Given the description of an element on the screen output the (x, y) to click on. 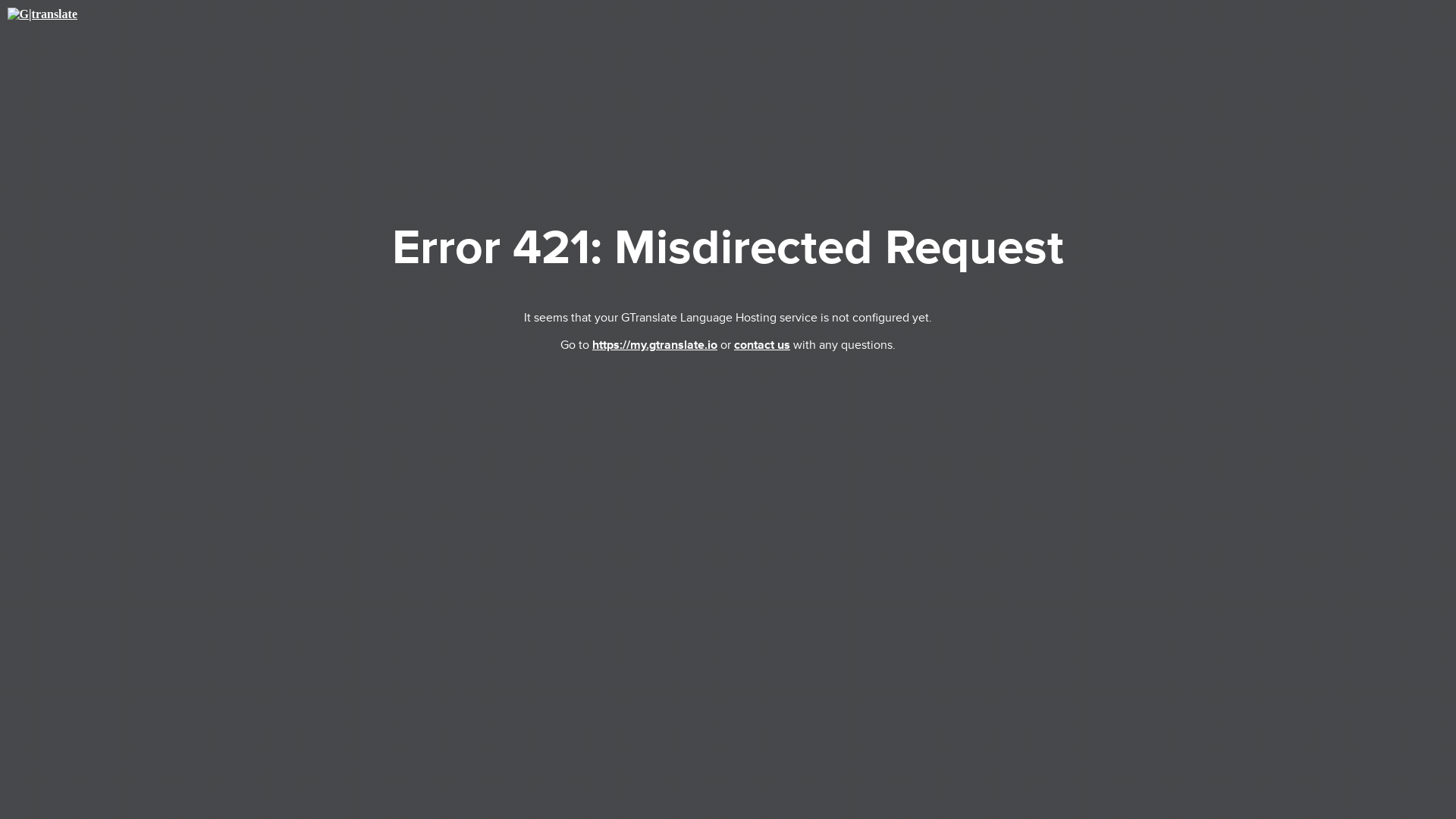
contact us (761, 344)
